Given the description of an element on the screen output the (x, y) to click on. 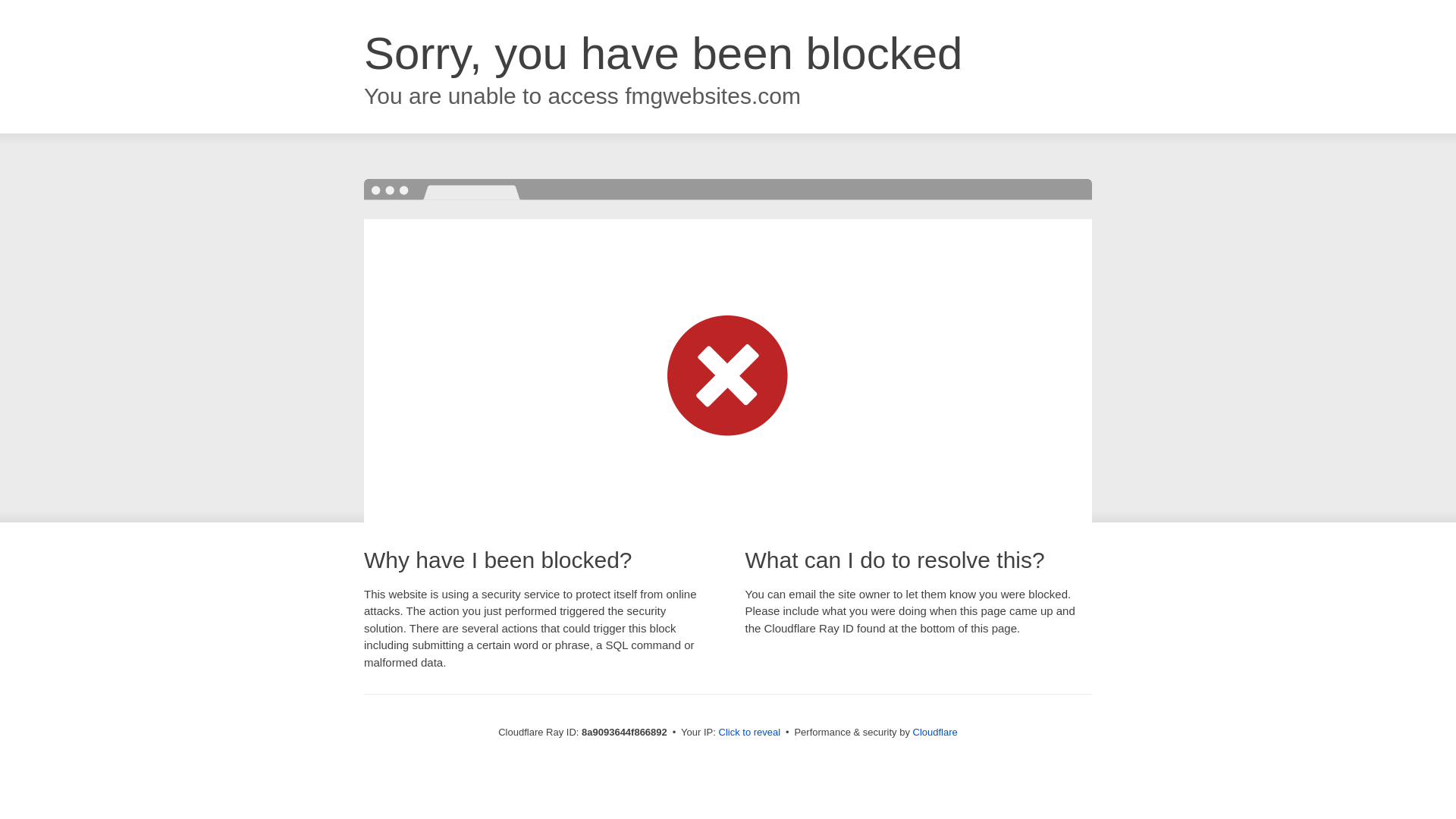
Cloudflare (935, 731)
Click to reveal (749, 732)
